Given the description of an element on the screen output the (x, y) to click on. 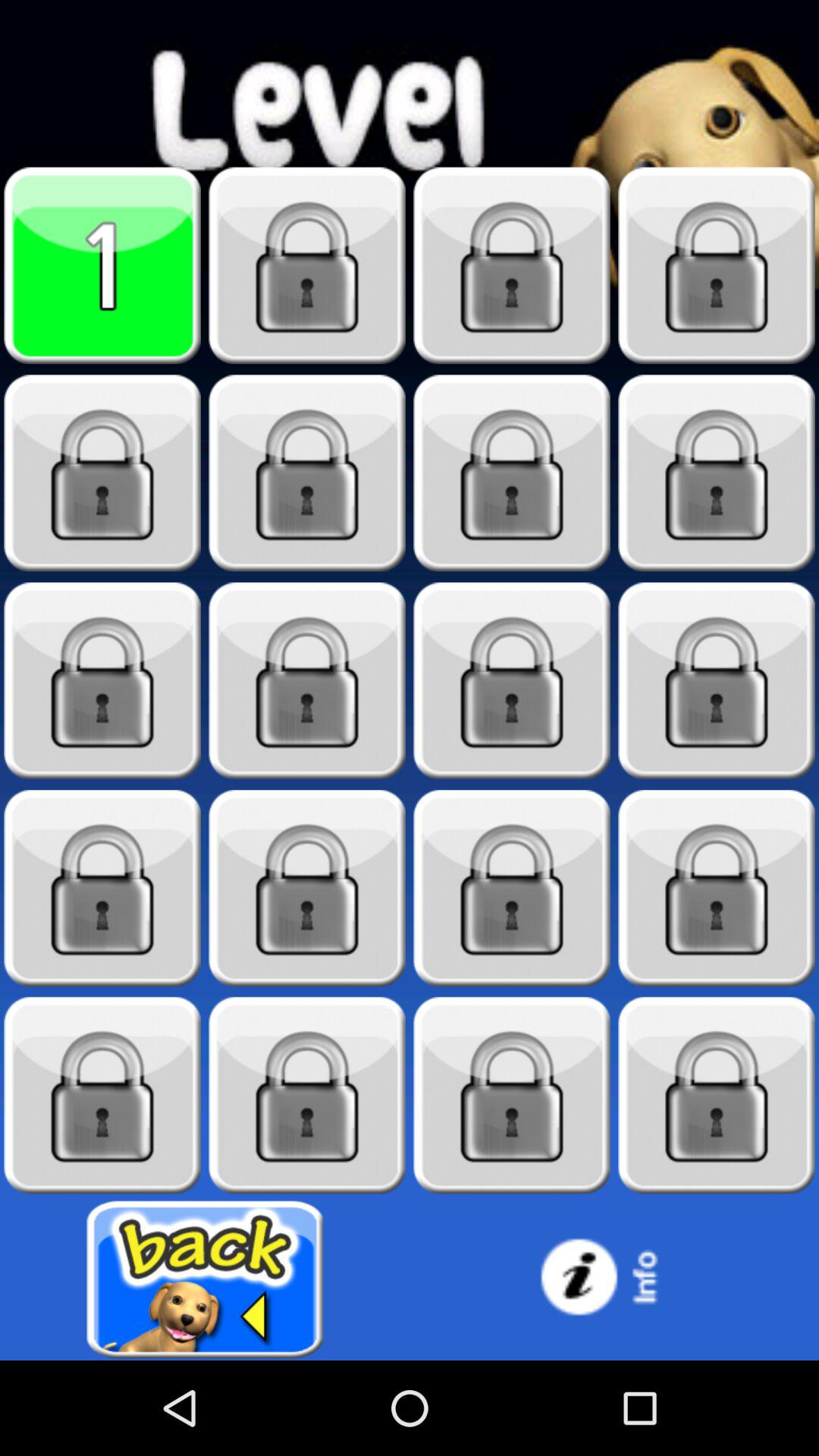
level locked icon (102, 680)
